Given the description of an element on the screen output the (x, y) to click on. 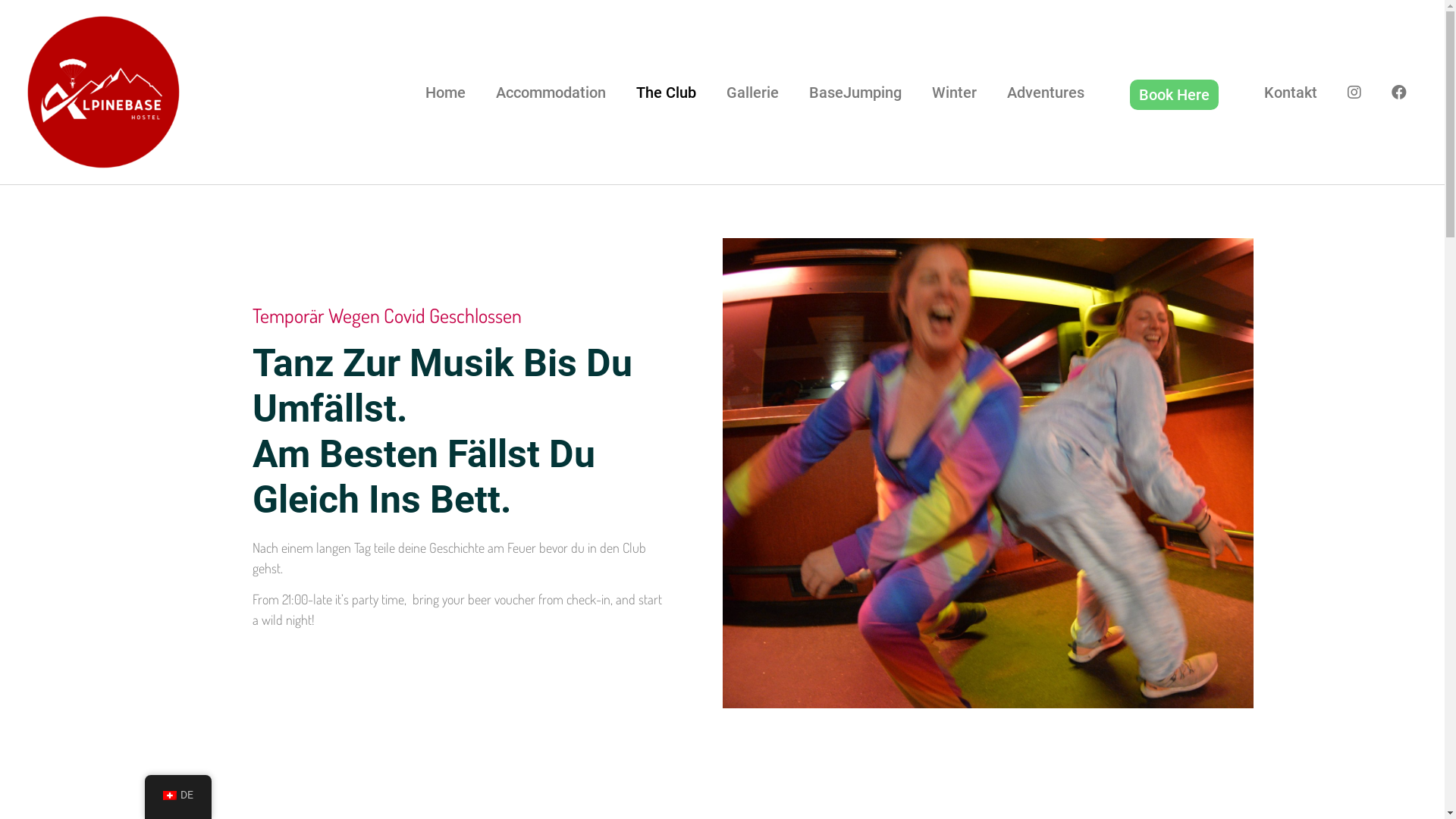
Home Element type: text (445, 92)
BaseJumping Element type: text (854, 92)
Kontakt Element type: text (1290, 92)
German Element type: hover (168, 795)
DE Element type: text (177, 795)
Adventures Element type: text (1045, 92)
Accommodation Element type: text (550, 92)
The Club Element type: text (666, 92)
Book Here Element type: text (1173, 94)
Gallerie Element type: text (752, 92)
Winter Element type: text (953, 92)
